Given the description of an element on the screen output the (x, y) to click on. 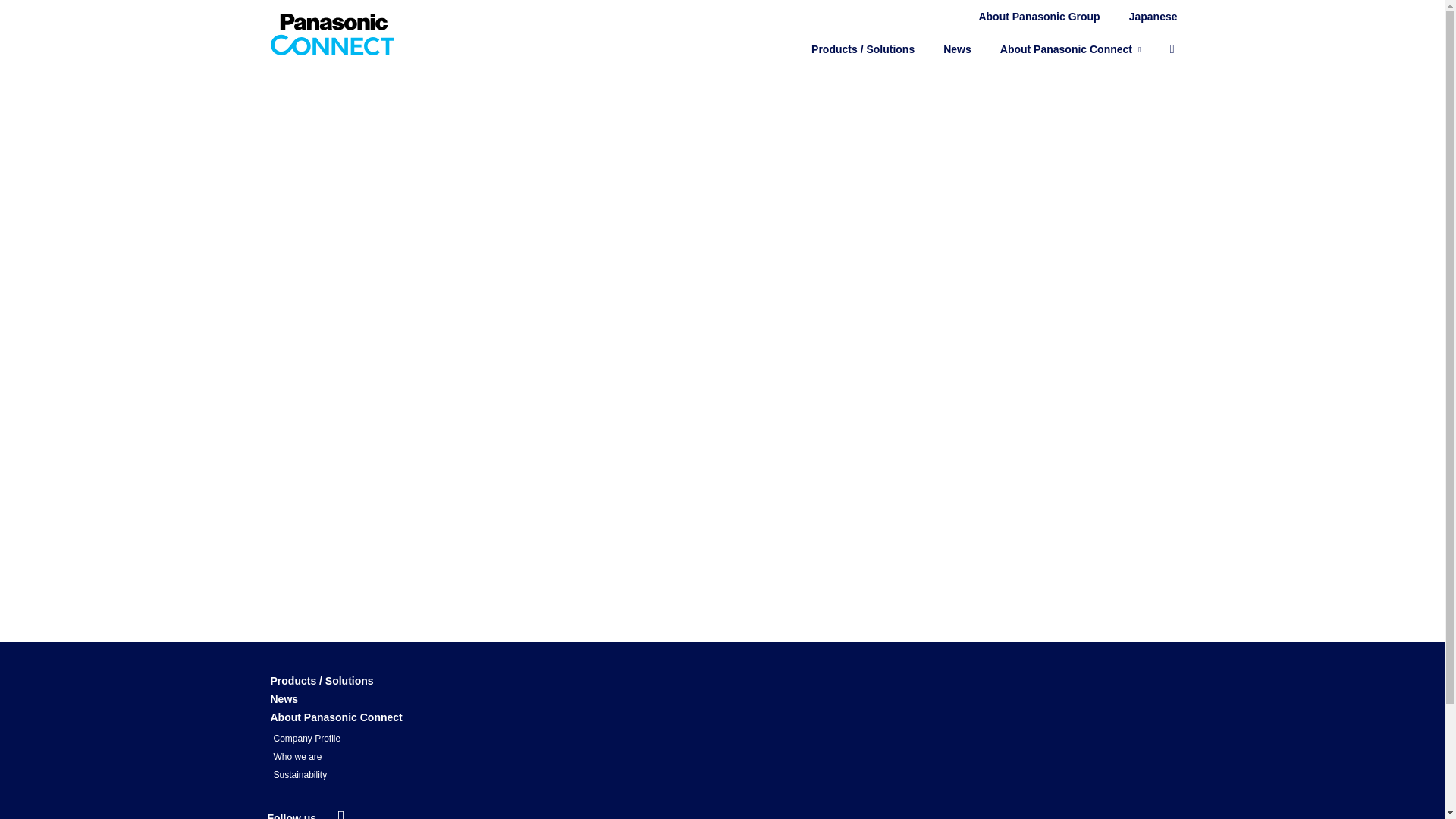
News (957, 49)
Sustainability (299, 775)
Company Profile (306, 738)
Who we are (297, 757)
News (283, 699)
Japanese (1153, 16)
About Panasonic Group (1038, 16)
About Panasonic Connect (335, 717)
